Given the description of an element on the screen output the (x, y) to click on. 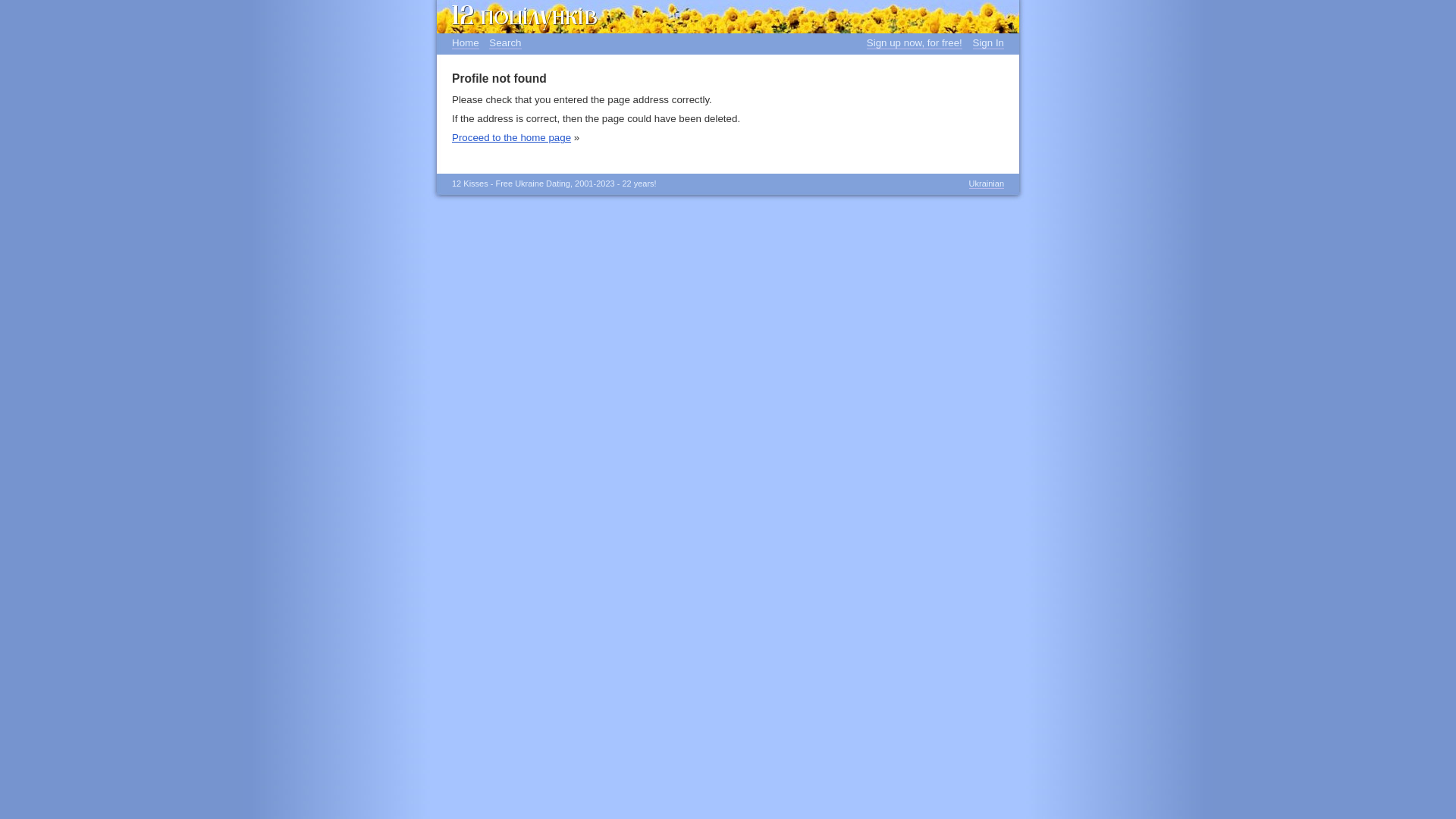
Search Element type: text (504, 43)
Proceed to the home page Element type: text (511, 137)
Home Element type: text (465, 43)
Ukrainian Element type: text (986, 183)
Sign up now, for free! Element type: text (914, 43)
Sign In Element type: text (988, 43)
